Given the description of an element on the screen output the (x, y) to click on. 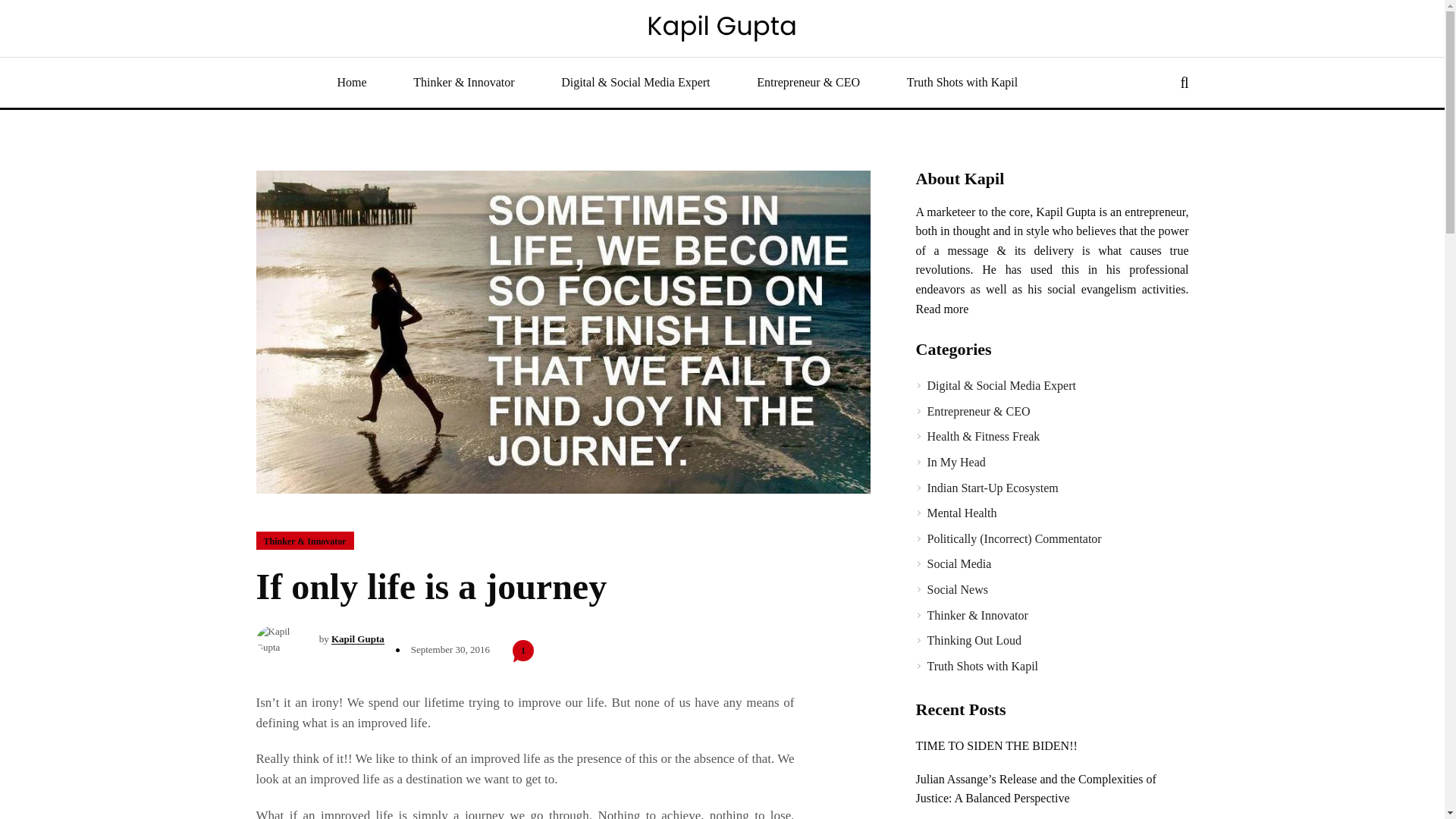
Mental Health (960, 512)
Indian Start-Up Ecosystem (992, 487)
Truth Shots with Kapil (962, 82)
Home (351, 82)
Kapil Gupta (357, 638)
In My Head (955, 461)
Social News (956, 589)
Social Media (958, 563)
Read more (942, 309)
Home (351, 82)
